Given the description of an element on the screen output the (x, y) to click on. 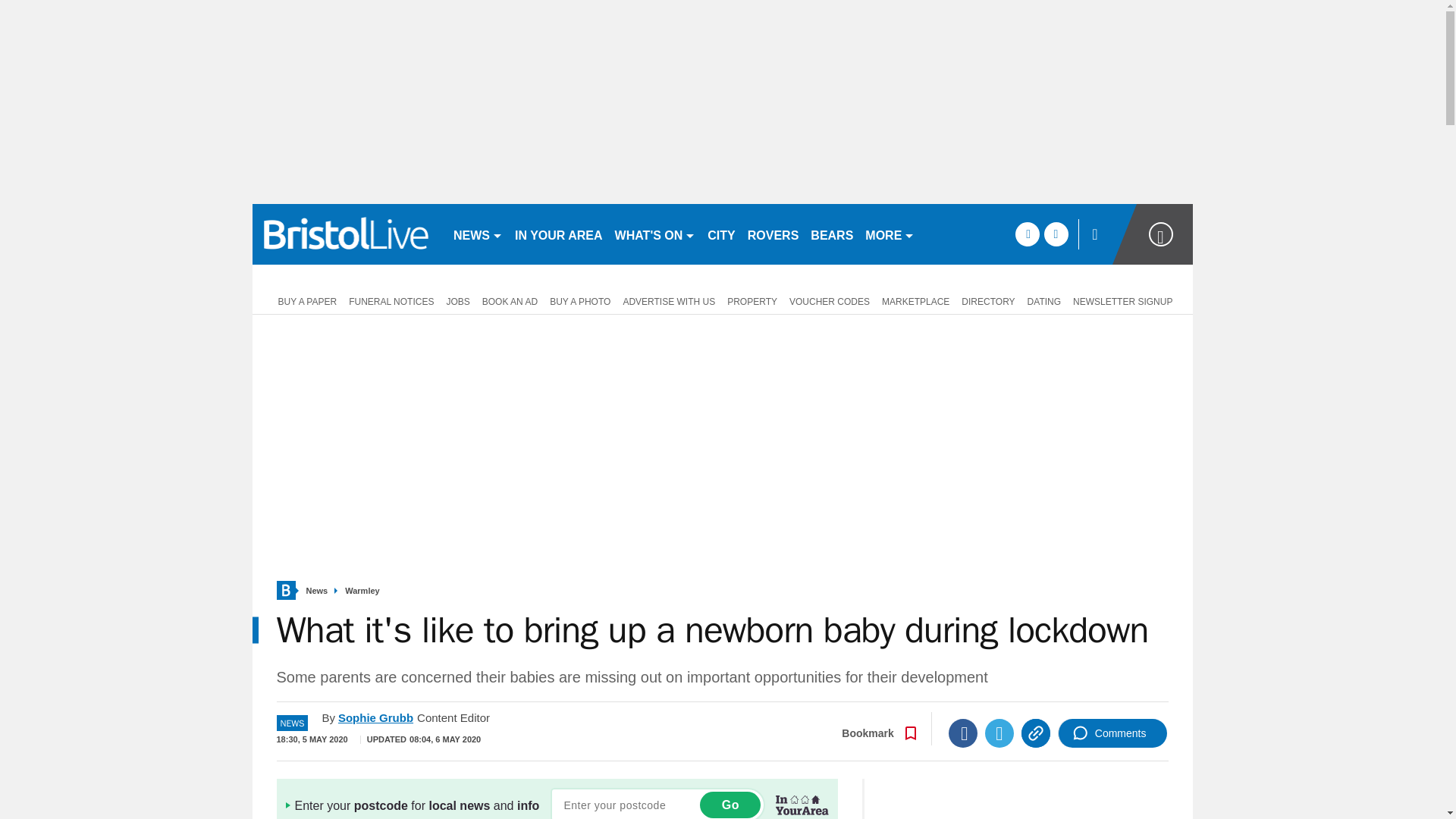
IN YOUR AREA (558, 233)
Comments (1112, 733)
WHAT'S ON (654, 233)
bristolpost (345, 233)
Go (730, 804)
facebook (1026, 233)
ROVERS (773, 233)
twitter (1055, 233)
BEARS (832, 233)
Facebook (962, 733)
